Given the description of an element on the screen output the (x, y) to click on. 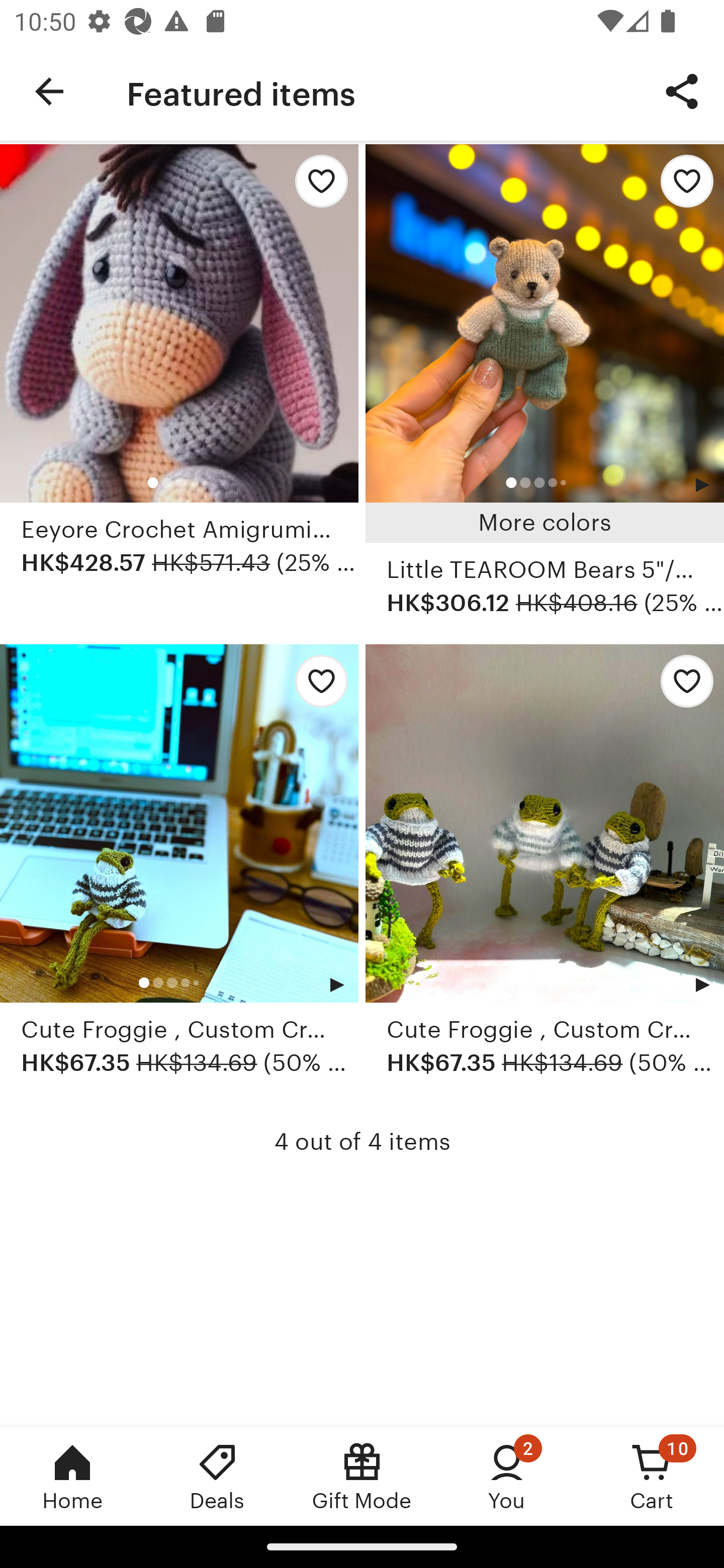
Navigate up (49, 91)
Share Button (681, 90)
Deals (216, 1475)
Gift Mode (361, 1475)
You, 2 new notifications You (506, 1475)
Cart, 10 new notifications Cart (651, 1475)
